Given the description of an element on the screen output the (x, y) to click on. 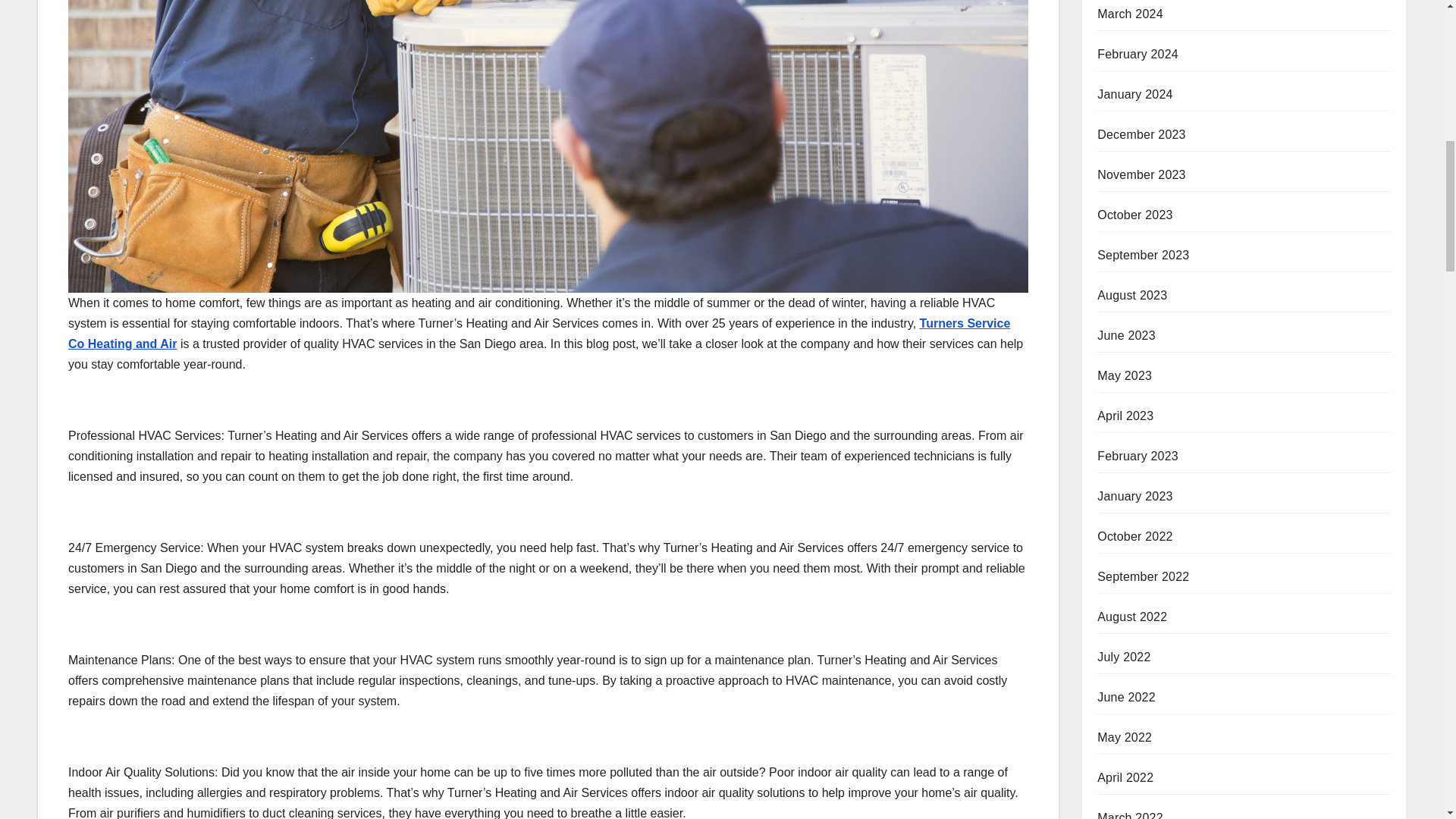
Turners Service Co Heating and Air (539, 333)
